Given the description of an element on the screen output the (x, y) to click on. 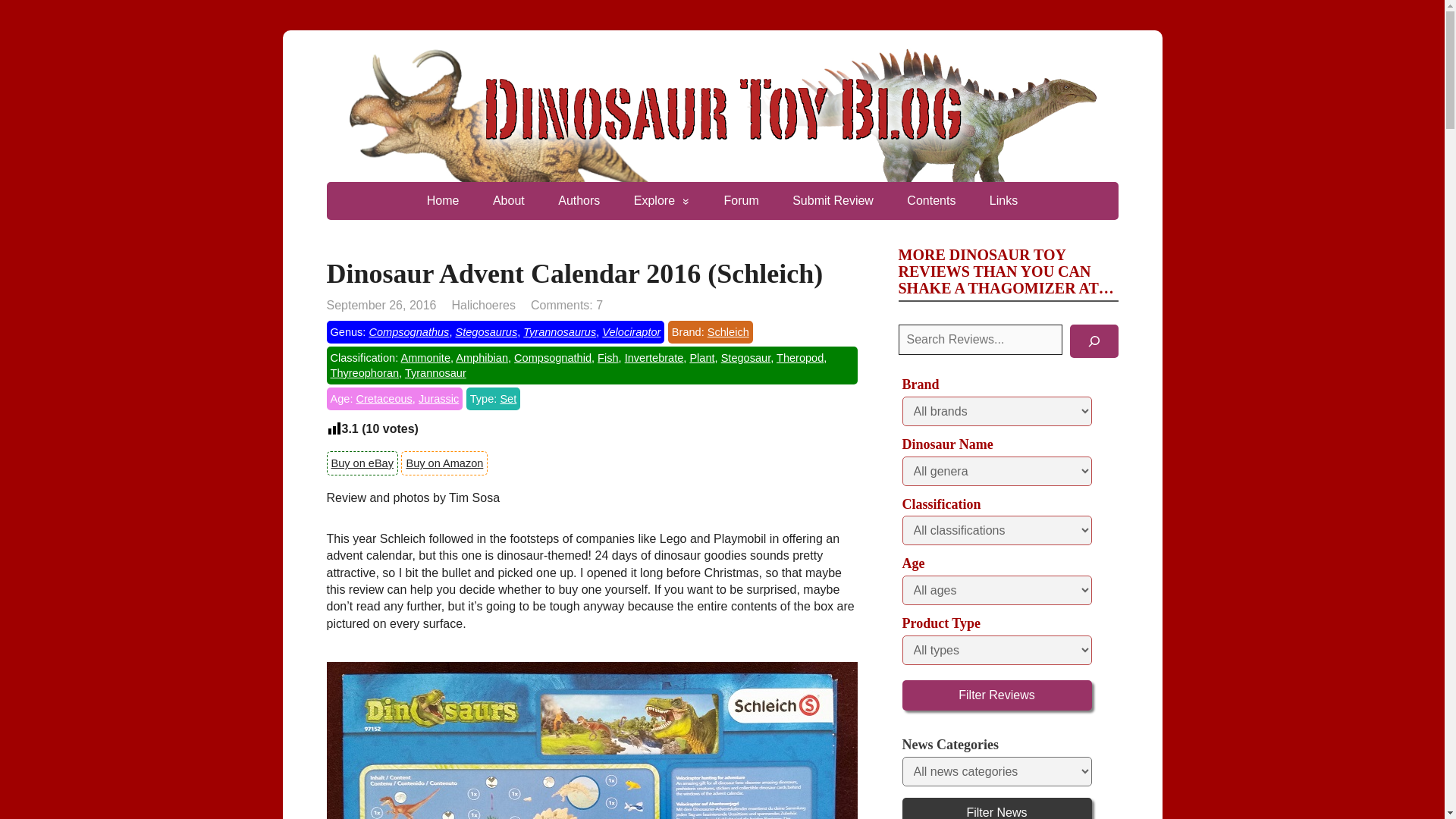
Plant (701, 357)
Explore (661, 200)
Submit Review (832, 200)
Tyrannosaur (434, 372)
Type: Set (492, 398)
Age: Cretaceous, Jurassic (394, 398)
Brand: Schleich (710, 332)
Links (1003, 200)
Ammonite (424, 357)
